Given the description of an element on the screen output the (x, y) to click on. 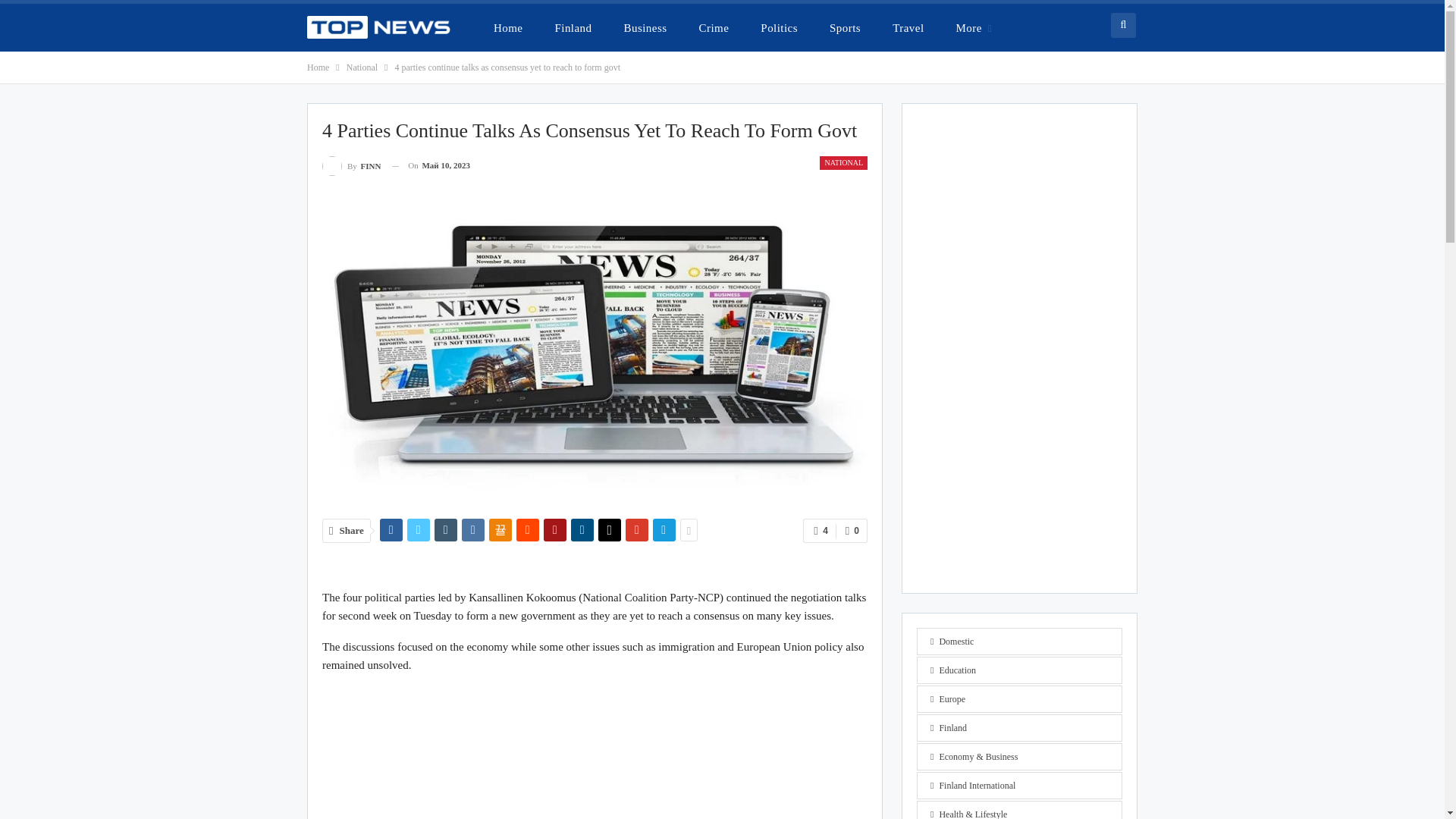
Advertisement (594, 753)
Politics (778, 27)
More (973, 27)
Travel (908, 27)
By FINN (350, 165)
National (361, 67)
NATIONAL (843, 162)
Home (508, 27)
0 (851, 530)
Business (645, 27)
Home (318, 67)
Browse Author Articles (350, 165)
Crime (714, 27)
Finland (572, 27)
Sports (844, 27)
